Given the description of an element on the screen output the (x, y) to click on. 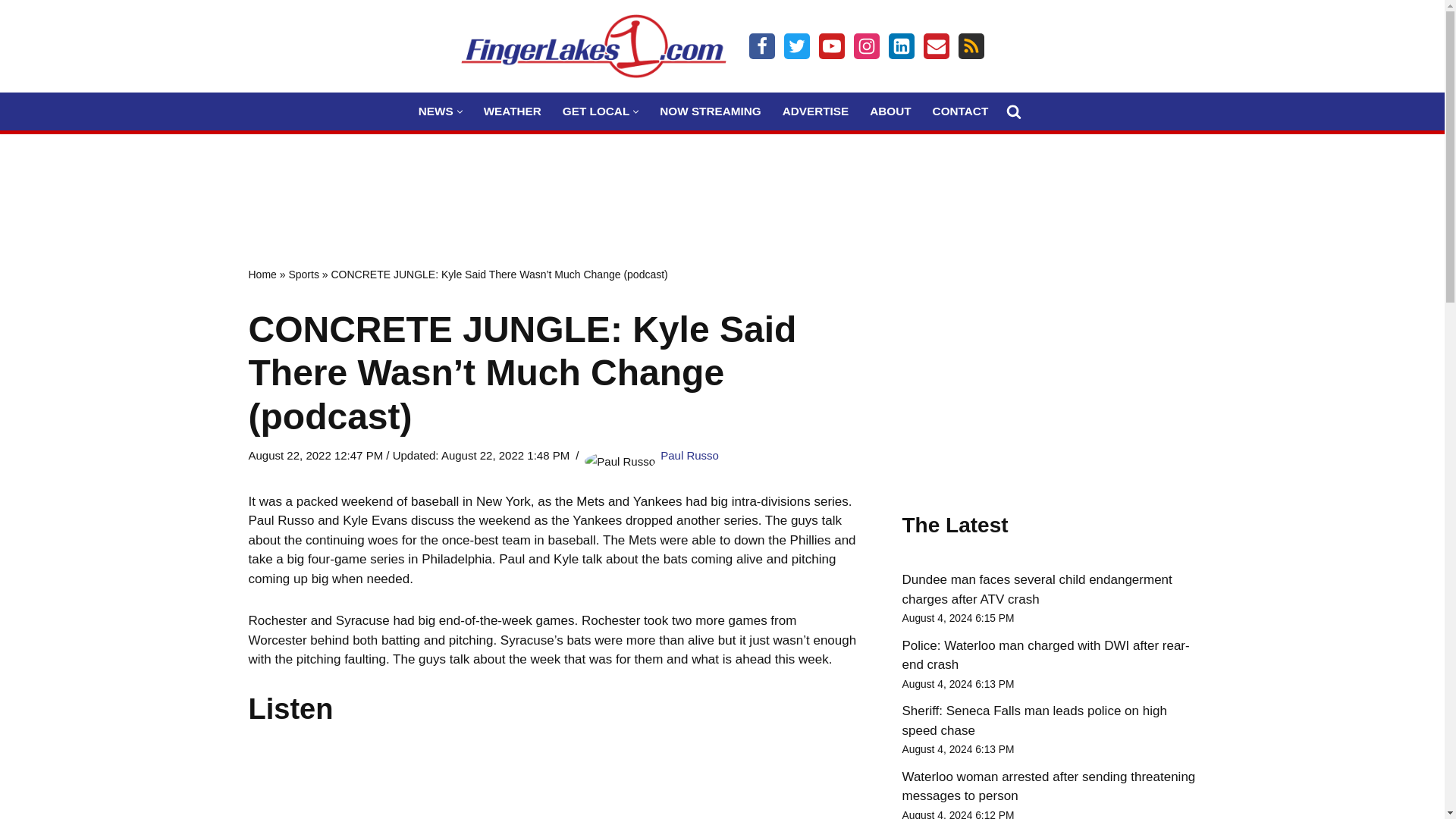
CONTACT (960, 111)
Posts by Paul Russo (690, 454)
LinkIn (901, 45)
Skip to content (11, 31)
Youtube (831, 45)
Feed (971, 45)
ADVERTISE (815, 111)
Twitter (796, 45)
Instagram (866, 45)
Facebook (761, 45)
GET LOCAL (595, 111)
NEWS (435, 111)
WEATHER (512, 111)
NOW STREAMING (709, 111)
Email Us (936, 45)
